Given the description of an element on the screen output the (x, y) to click on. 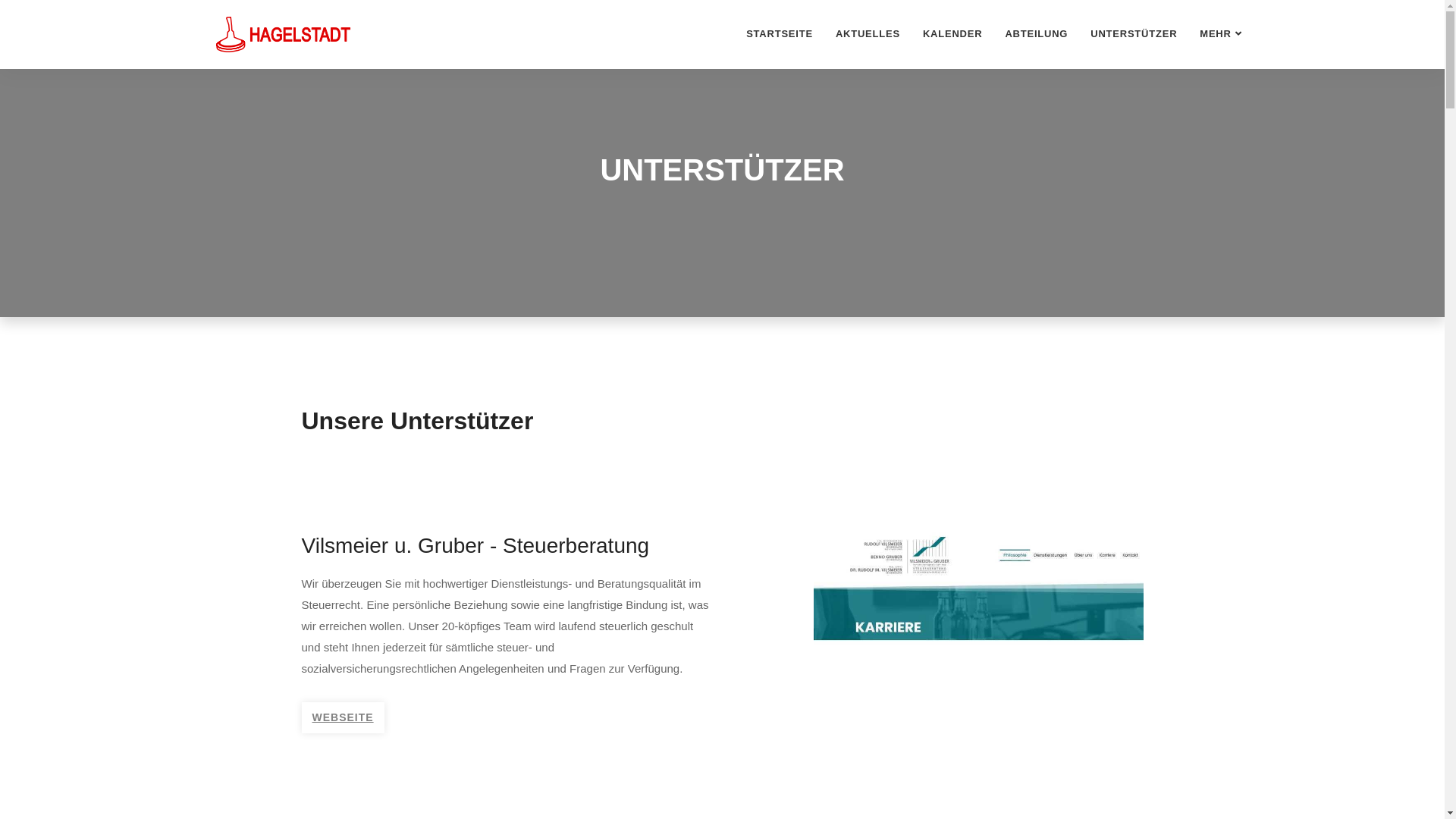
STARTSEITE Element type: text (779, 34)
AKTUELLES Element type: text (867, 34)
MEHR Element type: text (1220, 34)
WEBSEITE Element type: text (342, 717)
ABTEILUNG Element type: text (1036, 34)
KALENDER Element type: text (952, 34)
